Given the description of an element on the screen output the (x, y) to click on. 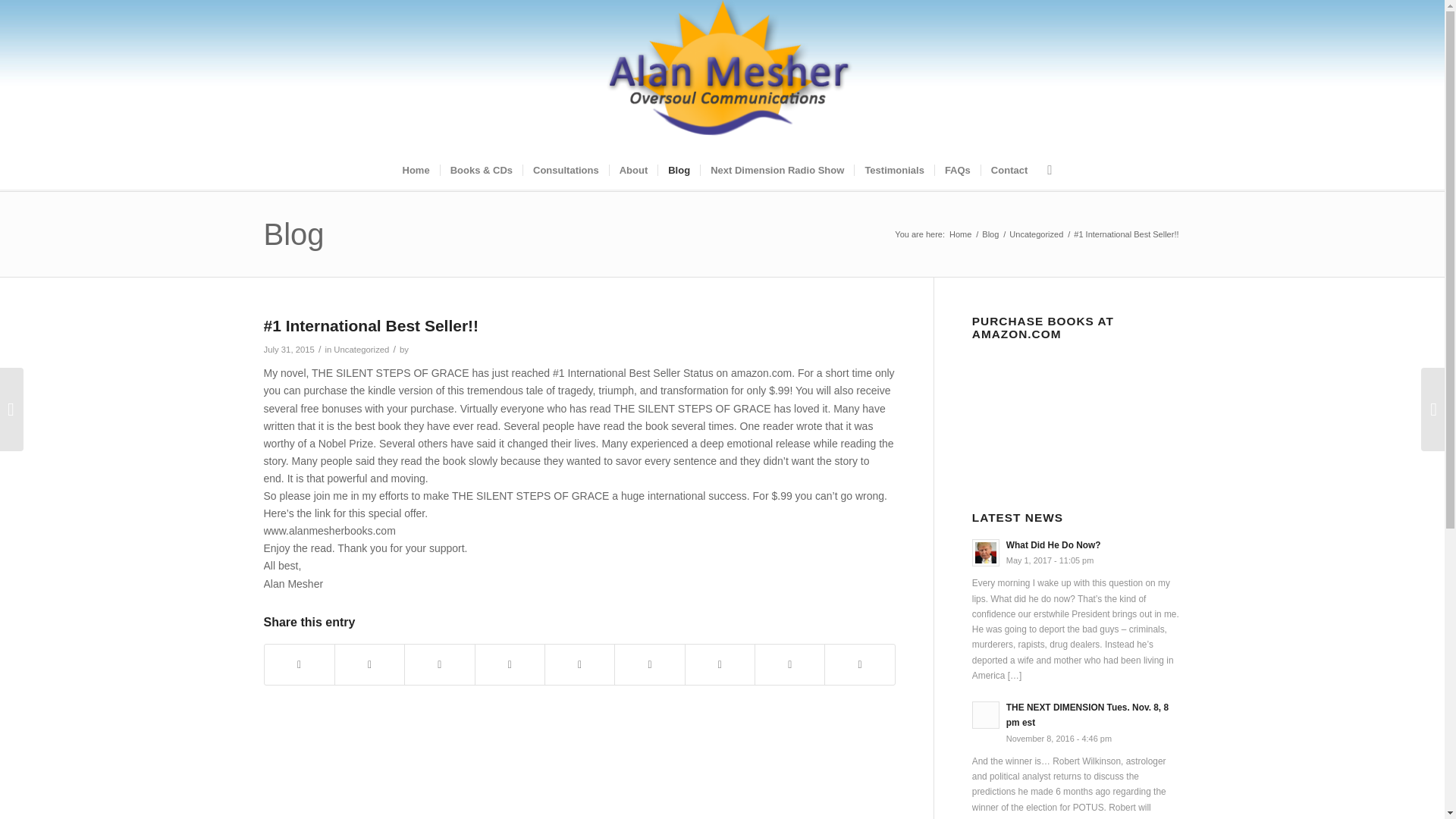
Uncategorized (360, 348)
Contact (1007, 170)
Permanent Link: Blog (293, 233)
Uncategorized (1036, 234)
What Did He Do Now? (1053, 544)
Consultations (565, 170)
About (633, 170)
Testimonials (893, 170)
Read: THE NEXT DIMENSION Tues. Nov. 8, 8 pm est (1087, 714)
Alan Mesher (960, 234)
Blog (679, 170)
Read: What Did He Do Now? (985, 552)
Home (416, 170)
Read: THE NEXT DIMENSION Tues. Nov. 8, 8 pm est (985, 714)
Blog (293, 233)
